Given the description of an element on the screen output the (x, y) to click on. 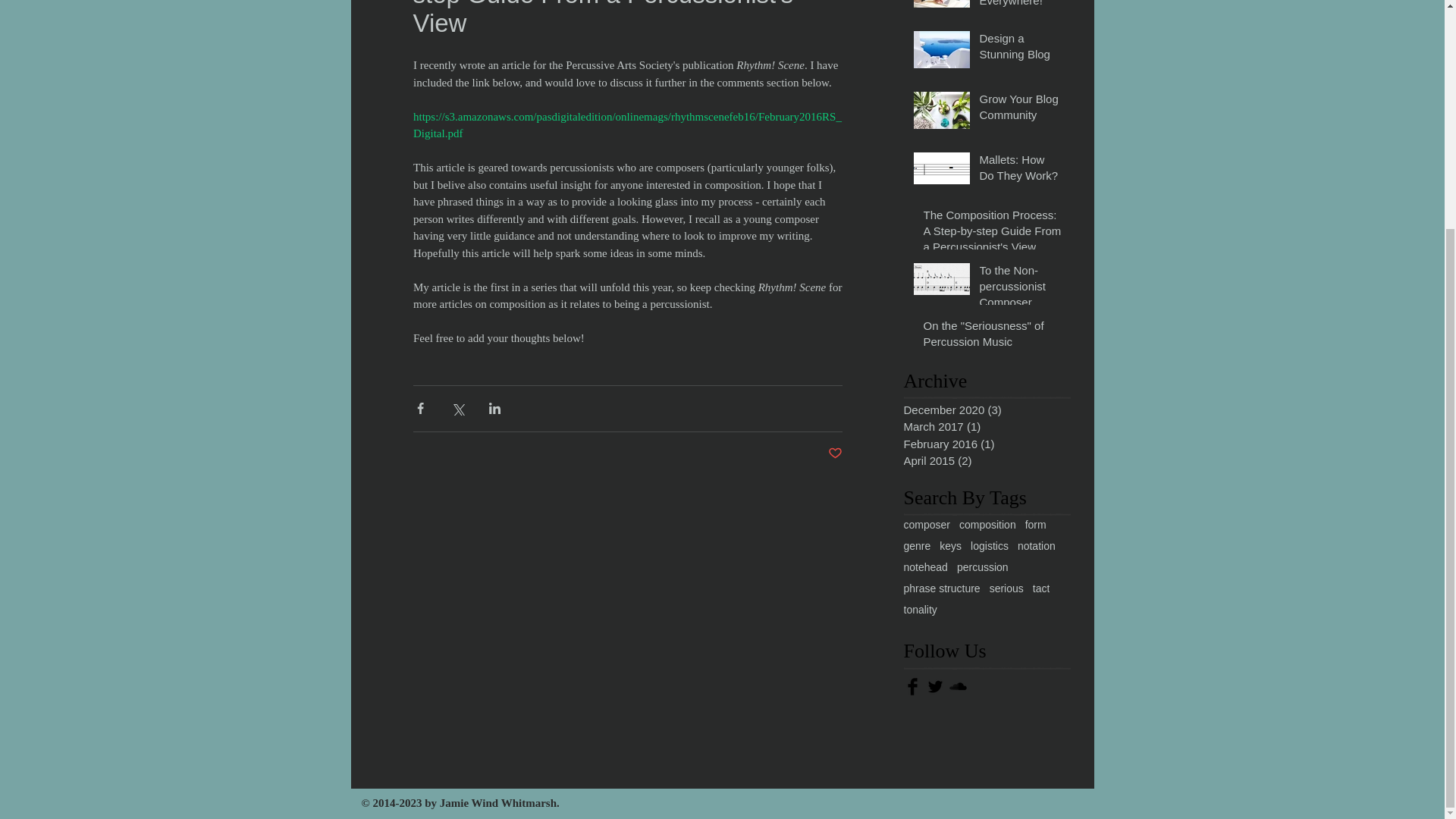
percussion (982, 567)
keys (949, 545)
genre (917, 545)
form (1035, 524)
notehead (925, 567)
To the Non-percussionist Composer (1020, 289)
logistics (990, 545)
On the "Seriousness" of Percussion Music (992, 336)
tonality (920, 609)
phrase structure (941, 588)
notation (1036, 545)
Post not marked as liked (835, 453)
Grow Your Blog Community (1020, 109)
composition (987, 524)
